Given the description of an element on the screen output the (x, y) to click on. 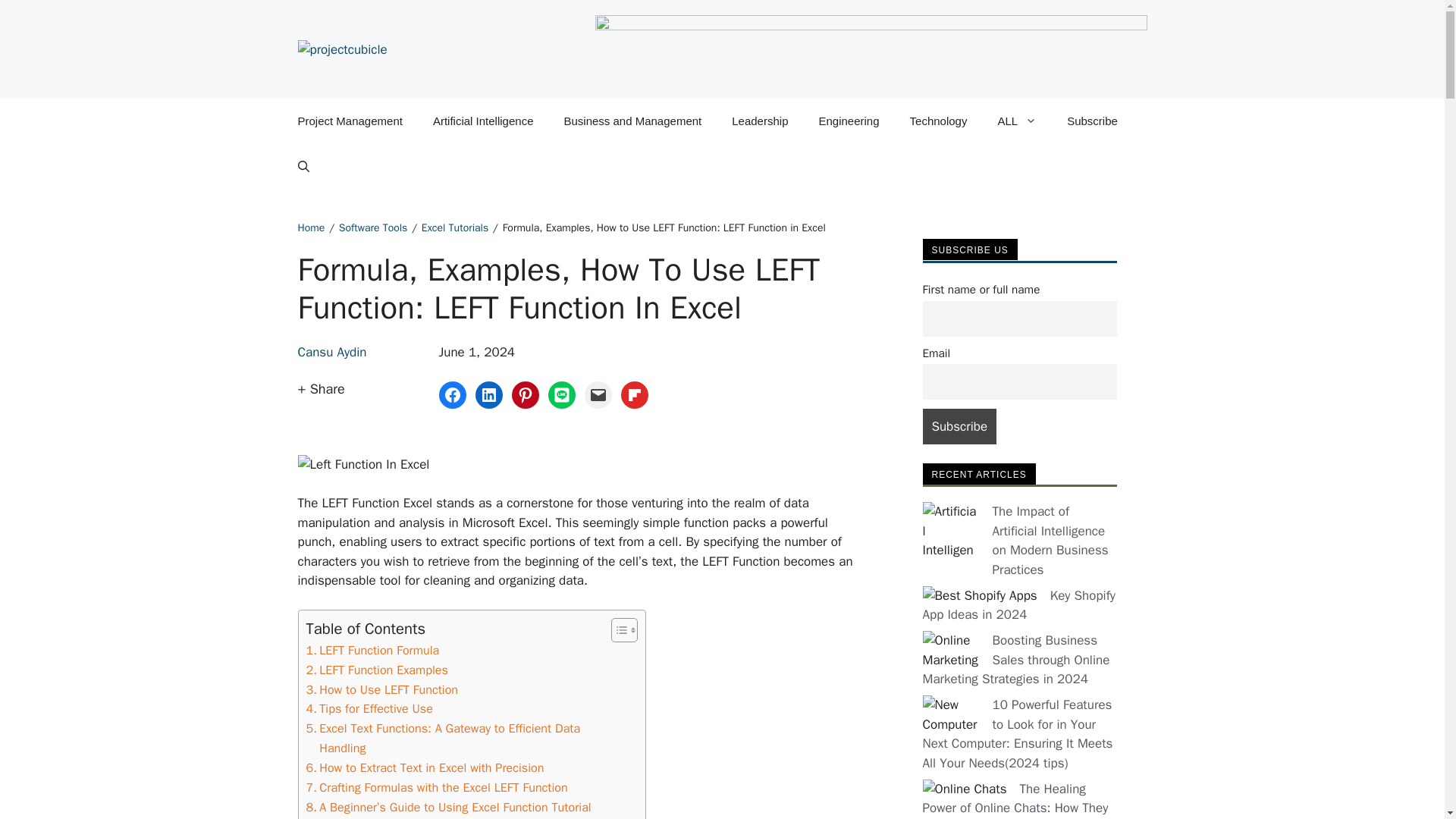
How to Extract Text in Excel with Precision (424, 768)
LEFT Function Formula (372, 650)
Project Management (349, 121)
LEFT Function Examples (376, 670)
Leadership (759, 121)
ALL (1016, 121)
Business and Management (632, 121)
Subscribe (958, 426)
Artificial Intelligence (482, 121)
Crafting Formulas with the Excel LEFT Function (436, 787)
Excel Text Functions: A Gateway to Efficient Data Handling (454, 738)
Engineering (848, 121)
Technology (938, 121)
